Given the description of an element on the screen output the (x, y) to click on. 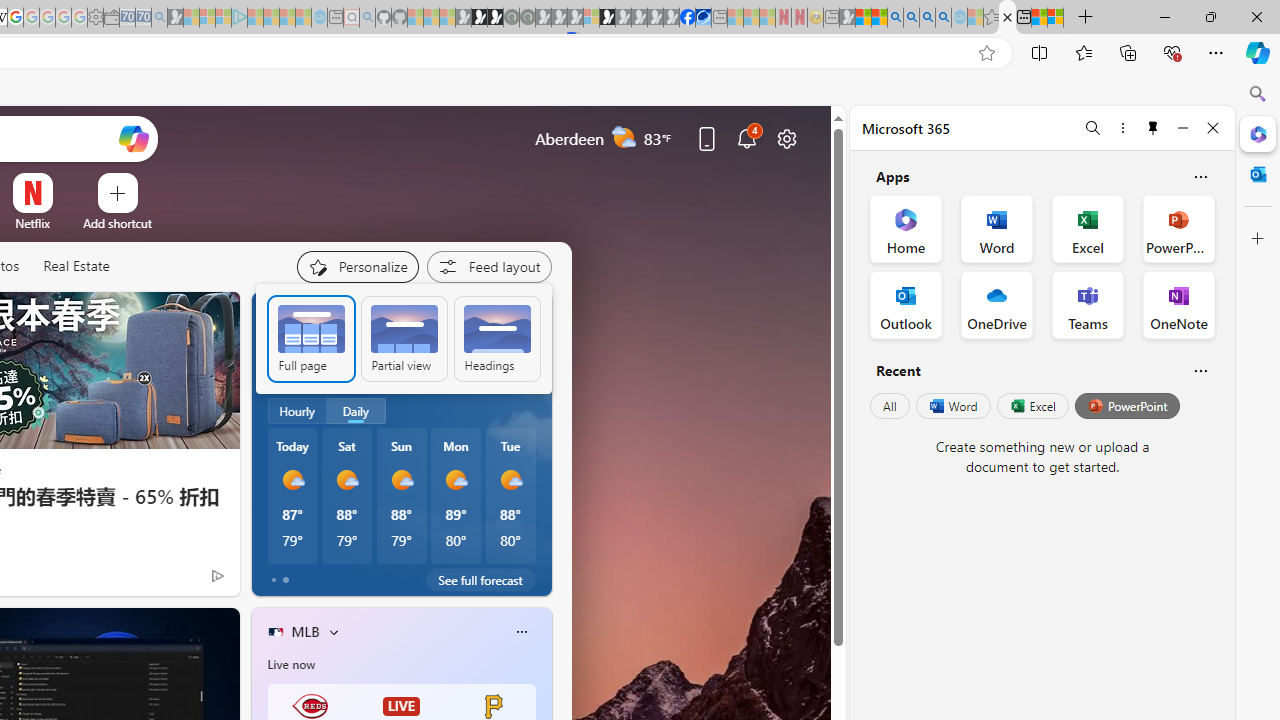
My location (343, 315)
Full page (310, 338)
Expect light rain next Wednesday (529, 367)
PowerPoint (1127, 406)
Page settings (786, 138)
See full forecast (480, 579)
